Given the description of an element on the screen output the (x, y) to click on. 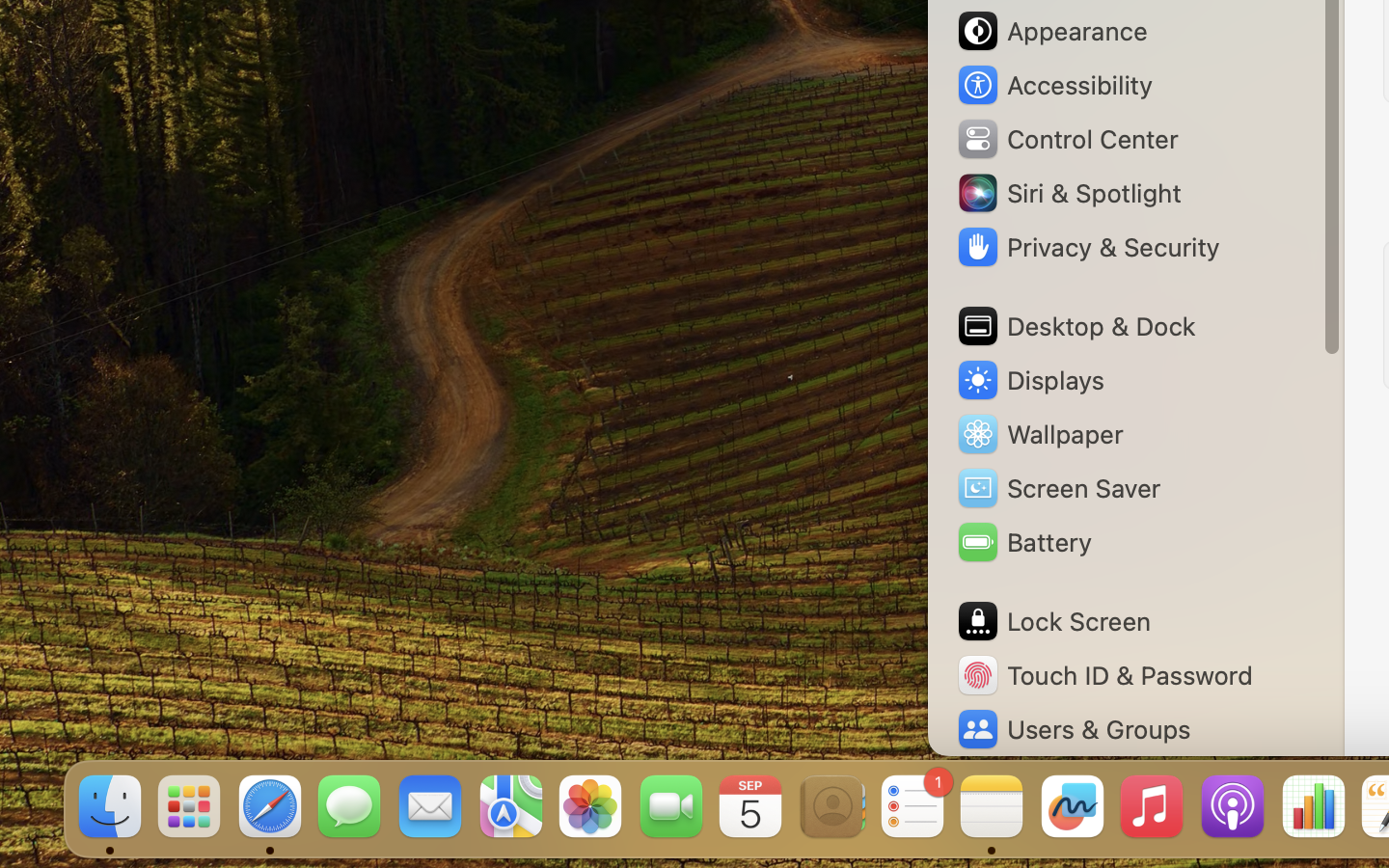
Wallpaper Element type: AXStaticText (1038, 433)
Battery Element type: AXStaticText (1022, 541)
Desktop & Dock Element type: AXStaticText (1075, 325)
Control Center Element type: AXStaticText (1066, 138)
Screen Saver Element type: AXStaticText (1057, 487)
